Given the description of an element on the screen output the (x, y) to click on. 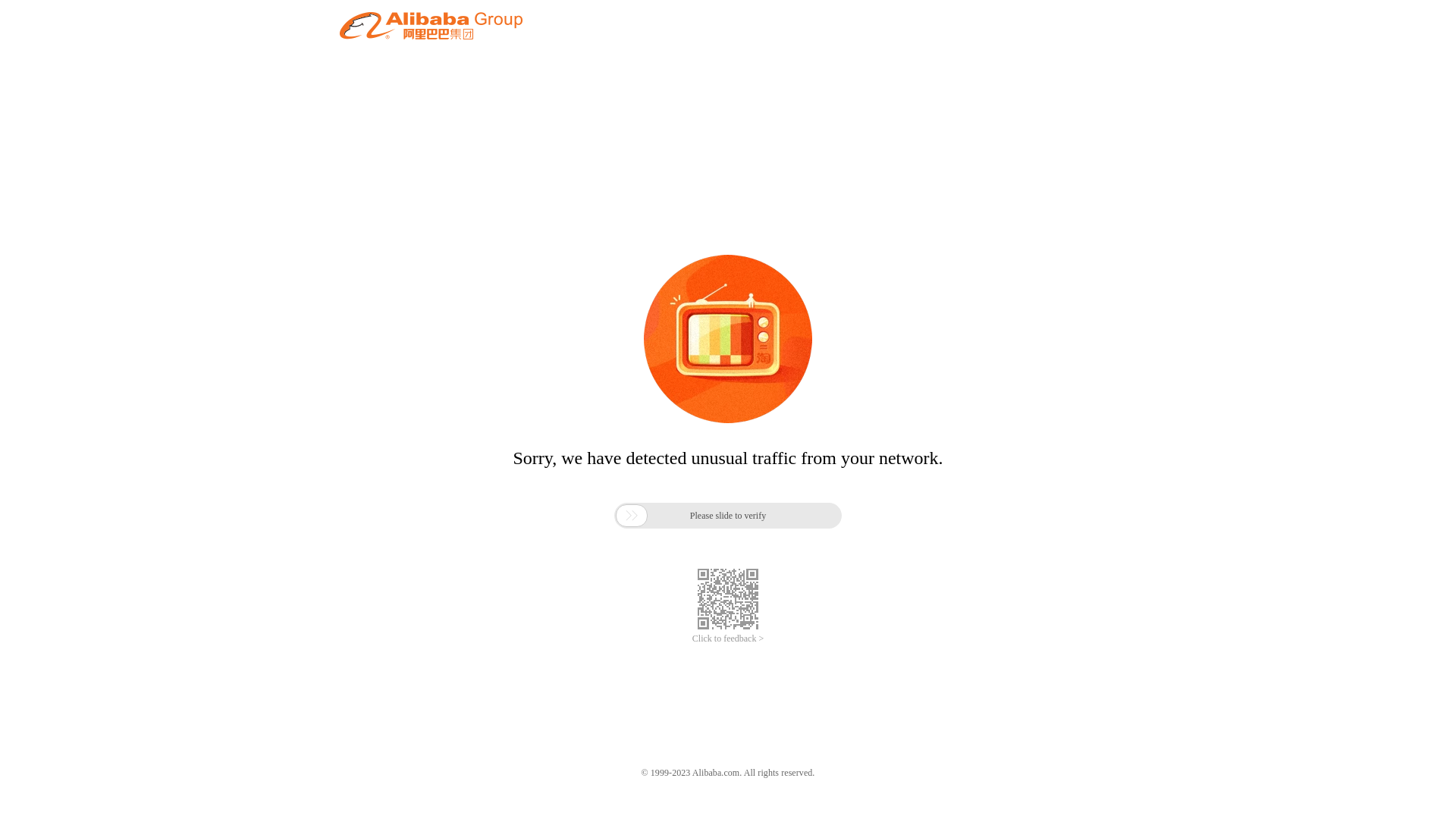
Click to feedback > Element type: text (727, 638)
